Given the description of an element on the screen output the (x, y) to click on. 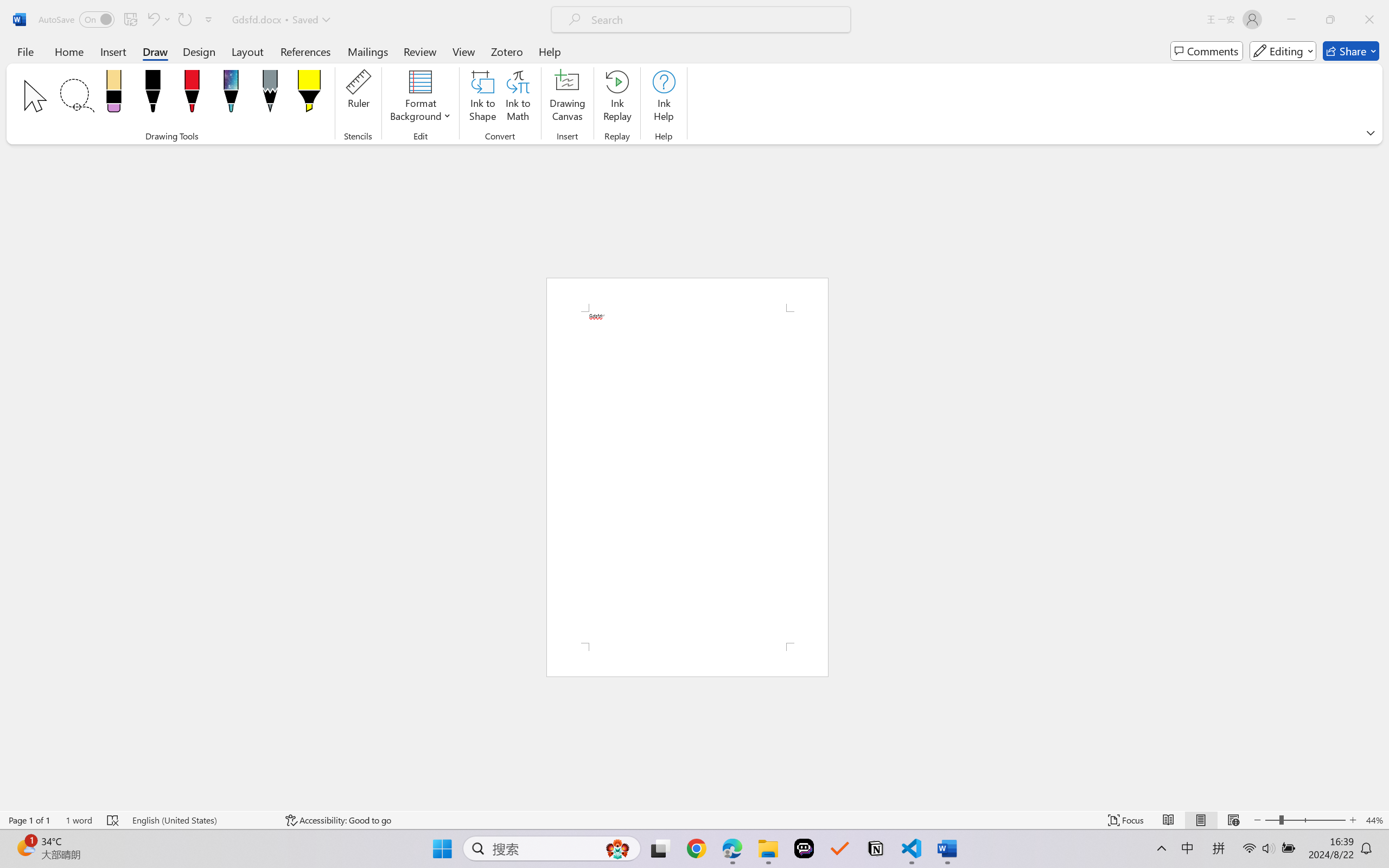
Undo Apply Quick Style (158, 19)
Class: NetUIScrollBar (1382, 477)
Ink to Shape (483, 97)
Notion (875, 848)
